Given the description of an element on the screen output the (x, y) to click on. 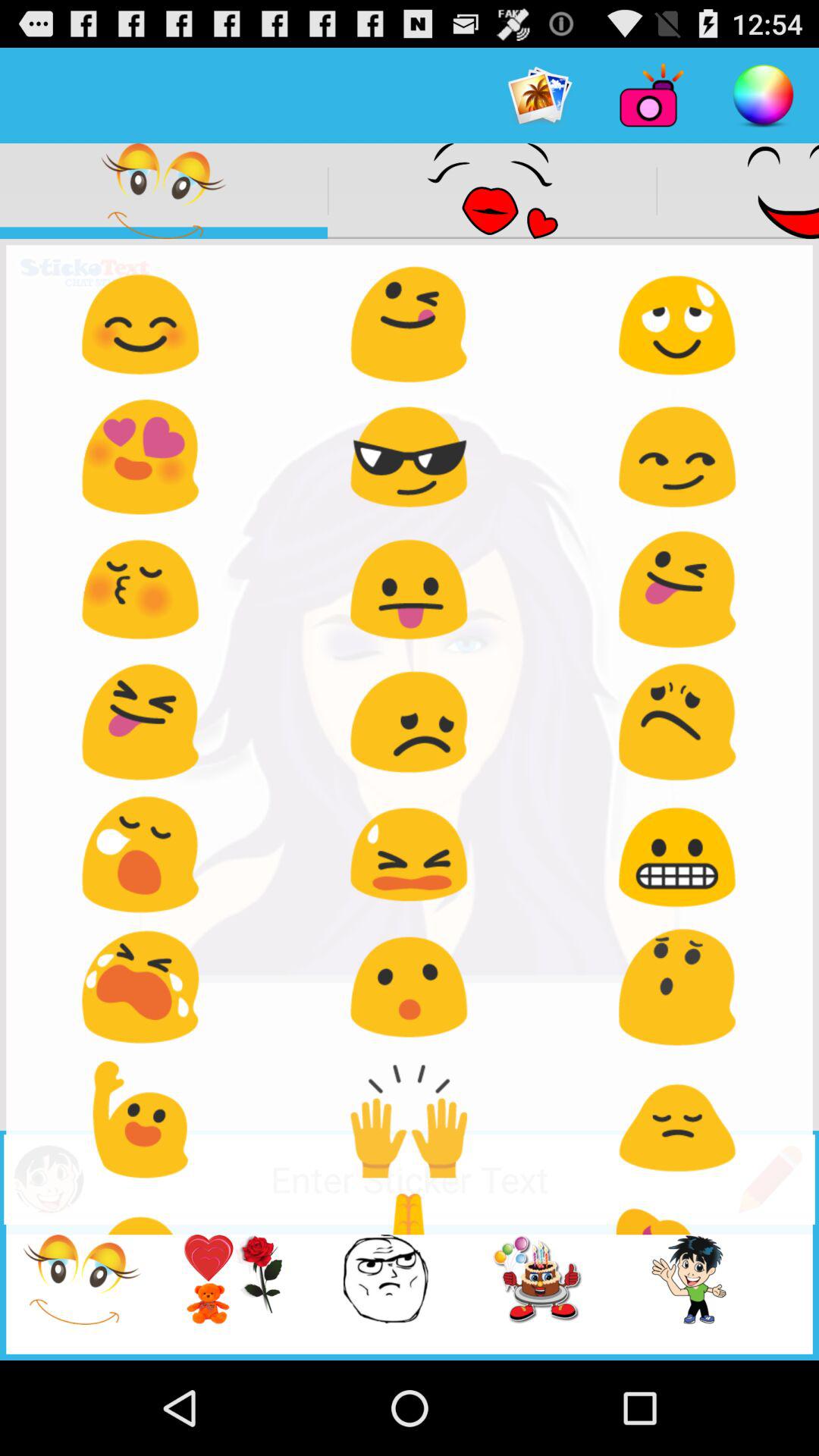
click o the 2nd image in the last row at the bottom (209, 1292)
click on the third image from the bottom of the page (385, 1279)
